Given the description of an element on the screen output the (x, y) to click on. 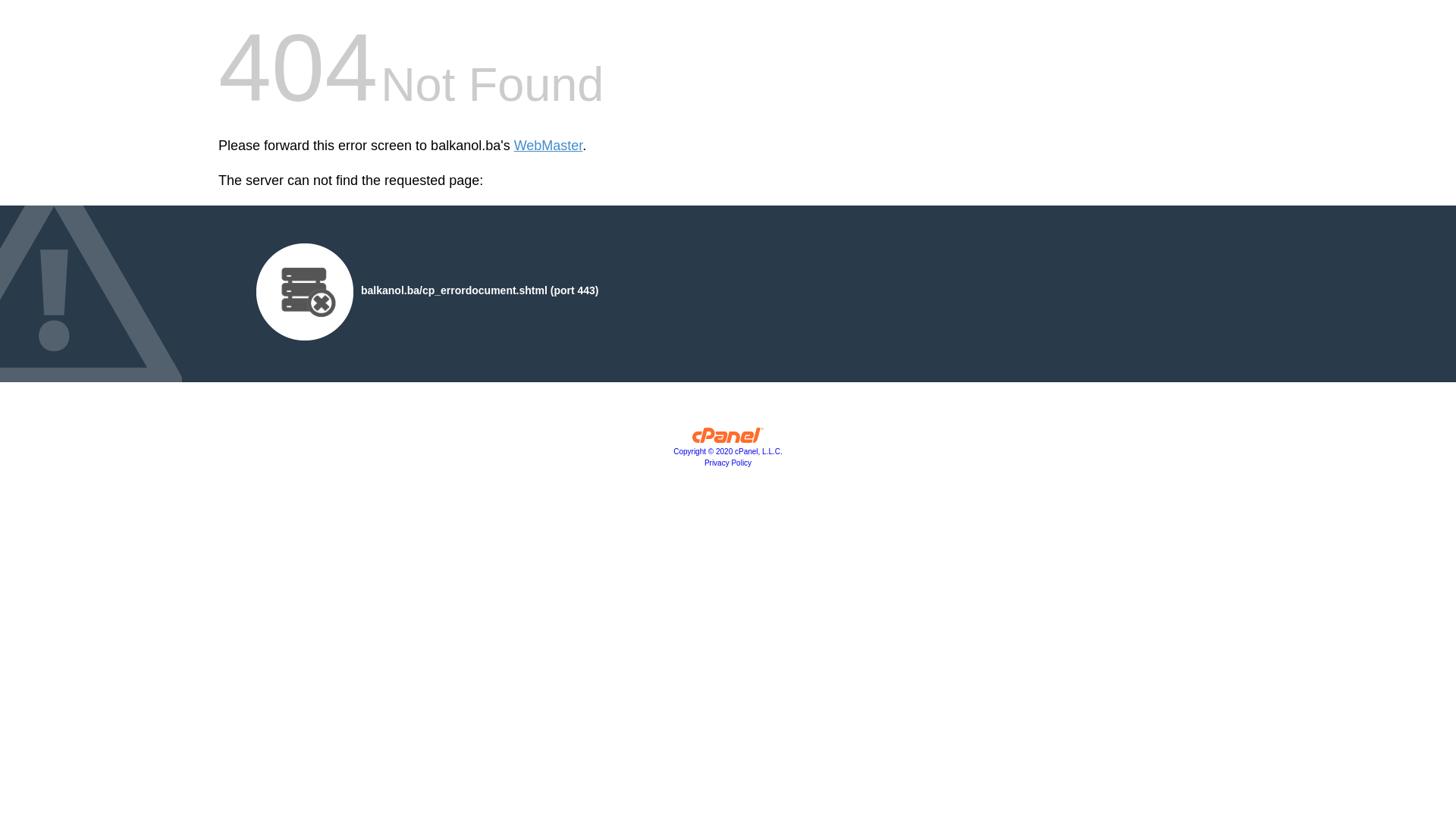
Privacy Policy Element type: text (727, 462)
WebMaster Element type: text (548, 145)
cPanel, Inc. Element type: hover (728, 439)
